Given the description of an element on the screen output the (x, y) to click on. 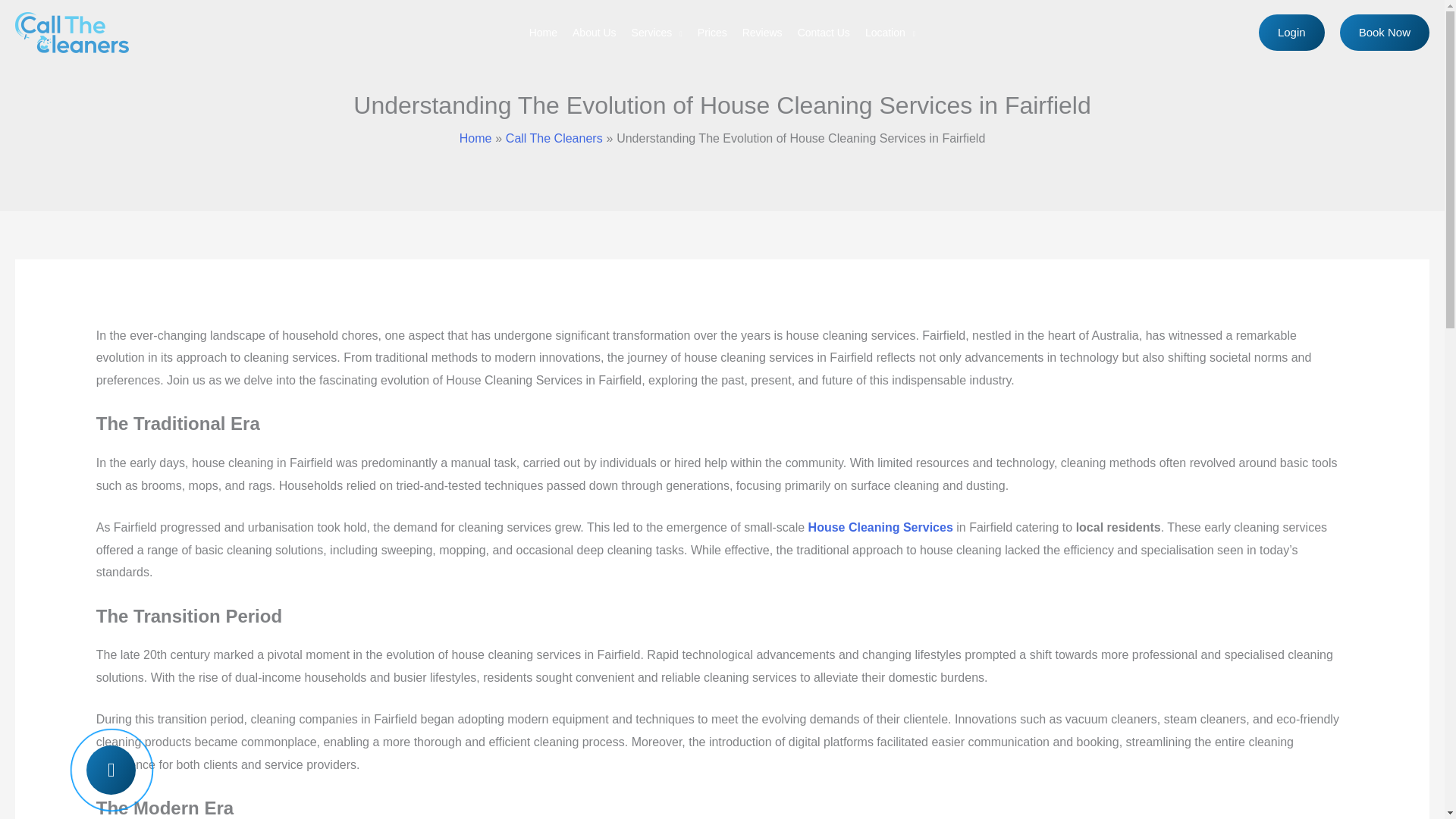
Reviews (762, 31)
About Us (594, 31)
Services (657, 31)
